Given the description of an element on the screen output the (x, y) to click on. 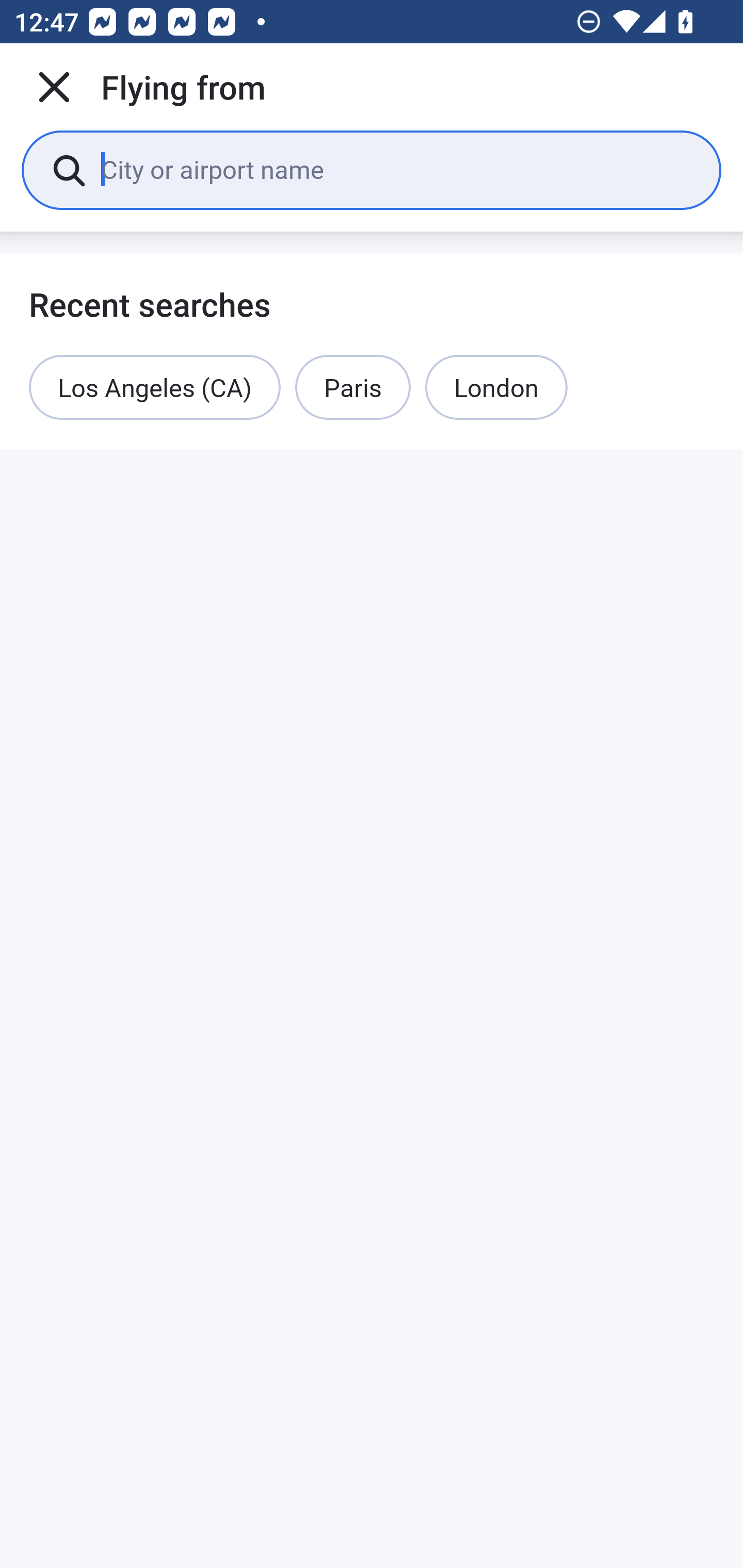
City or airport name (396, 169)
Los Angeles (CA) (154, 387)
Paris (352, 387)
London (495, 387)
